Given the description of an element on the screen output the (x, y) to click on. 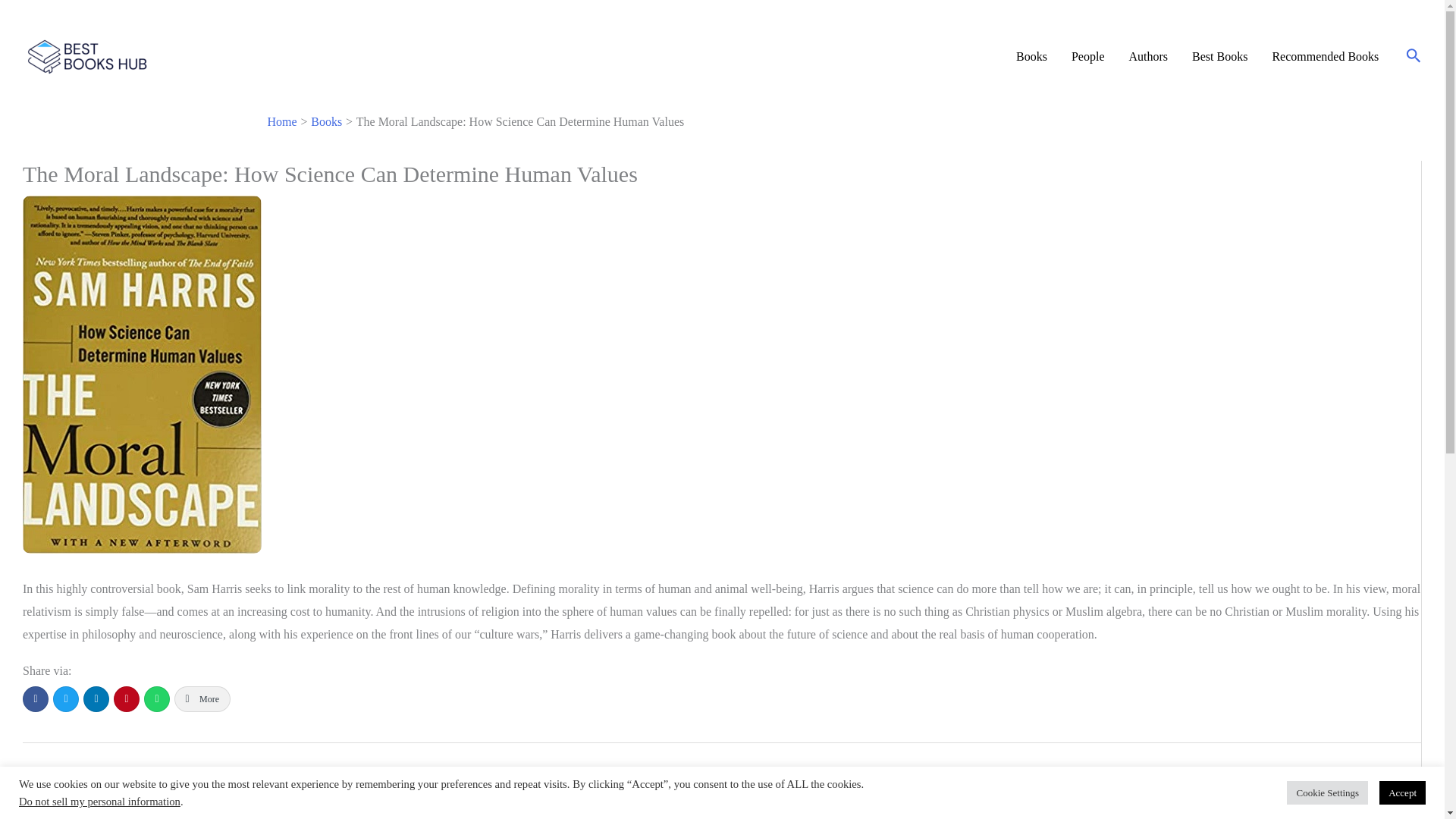
Home (281, 121)
More (202, 698)
Books (326, 121)
Best Books (1219, 56)
Recommended Books (1324, 56)
Letter to a Christian Nation (1385, 782)
Do not sell my personal information (99, 801)
Lying (68, 782)
Cookie Settings (1327, 792)
Accept (1401, 792)
